Given the description of an element on the screen output the (x, y) to click on. 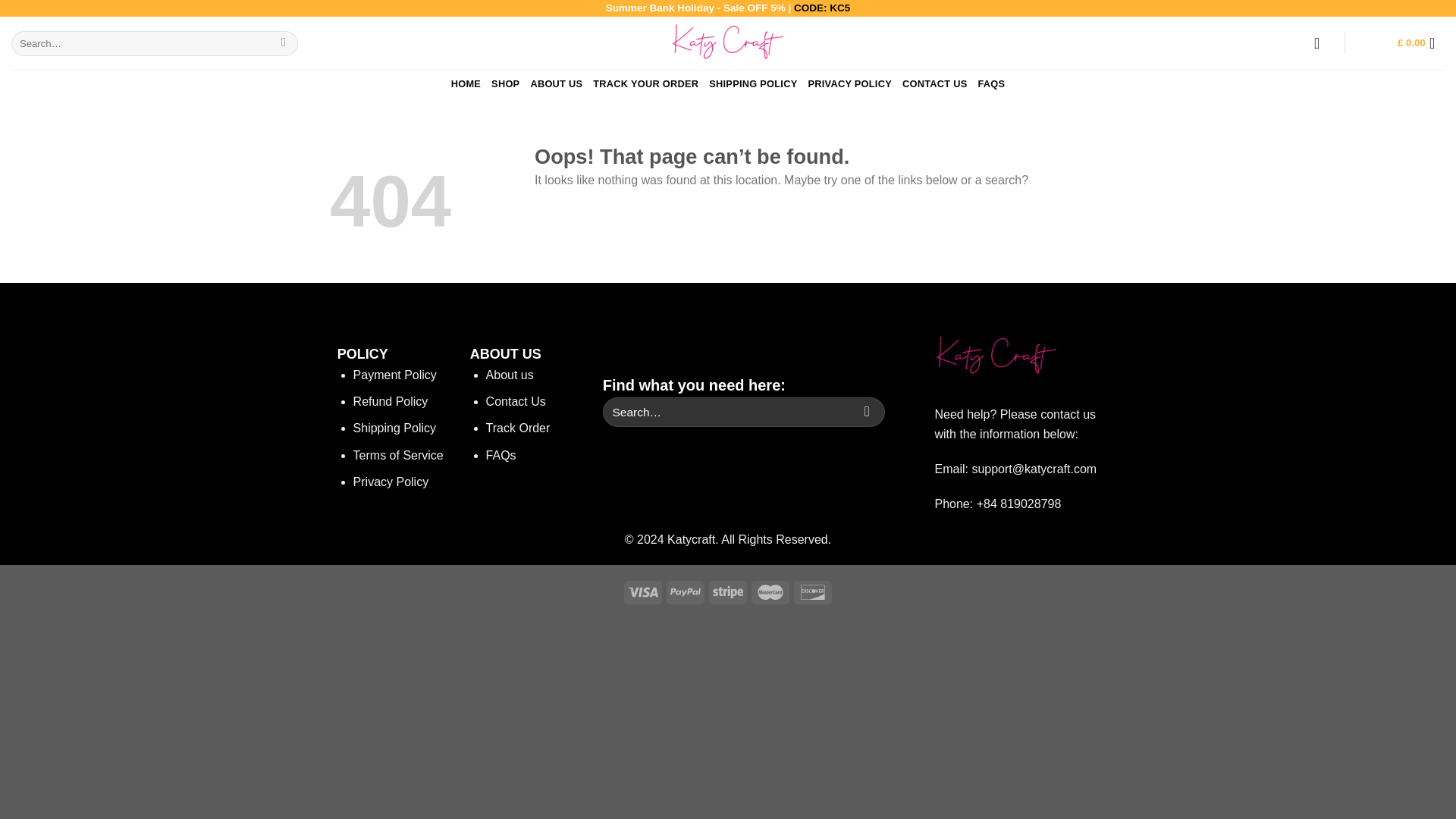
Payment Policy (394, 374)
ABOUT US (555, 83)
Privacy Policy (391, 481)
FAQs (501, 454)
Refund Policy (390, 400)
Katy Craft - EVERYTHING YOU NEED! (727, 42)
TRACK YOUR ORDER (645, 83)
Shipping Policy (394, 427)
Search (283, 43)
Terms of Service (398, 454)
CONTACT US (935, 83)
PRIVACY POLICY (849, 83)
Contact Us (516, 400)
SHIPPING POLICY (752, 83)
HOME (465, 83)
